Given the description of an element on the screen output the (x, y) to click on. 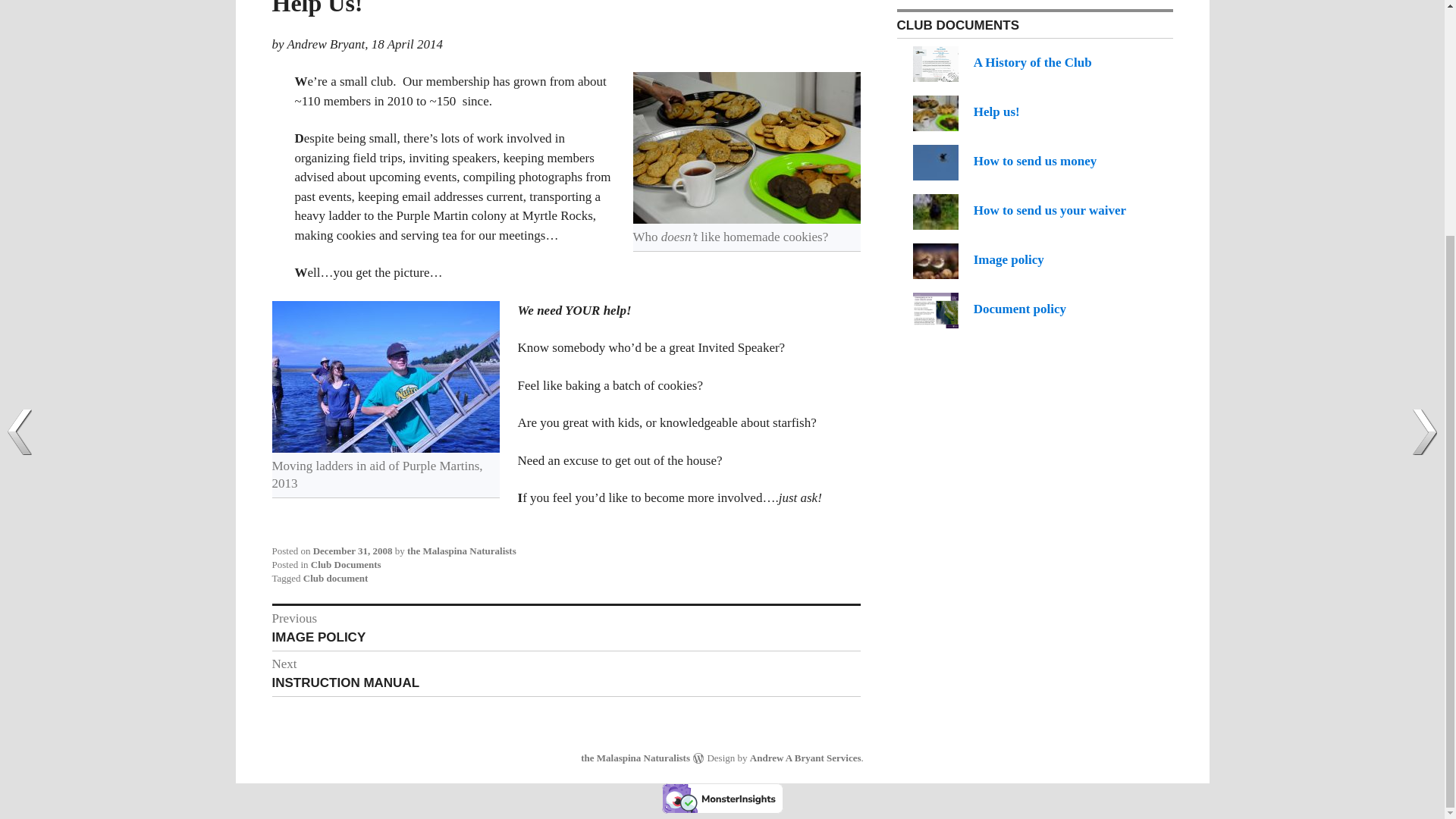
by YOU! (966, 111)
December 31, 2008 (353, 550)
Club Documents (346, 564)
How to send us your waiver (1018, 210)
A History of the Club (565, 628)
the Malaspina Naturalists (1002, 62)
Club document (635, 756)
Verified by MonsterInsights (335, 577)
